Given the description of an element on the screen output the (x, y) to click on. 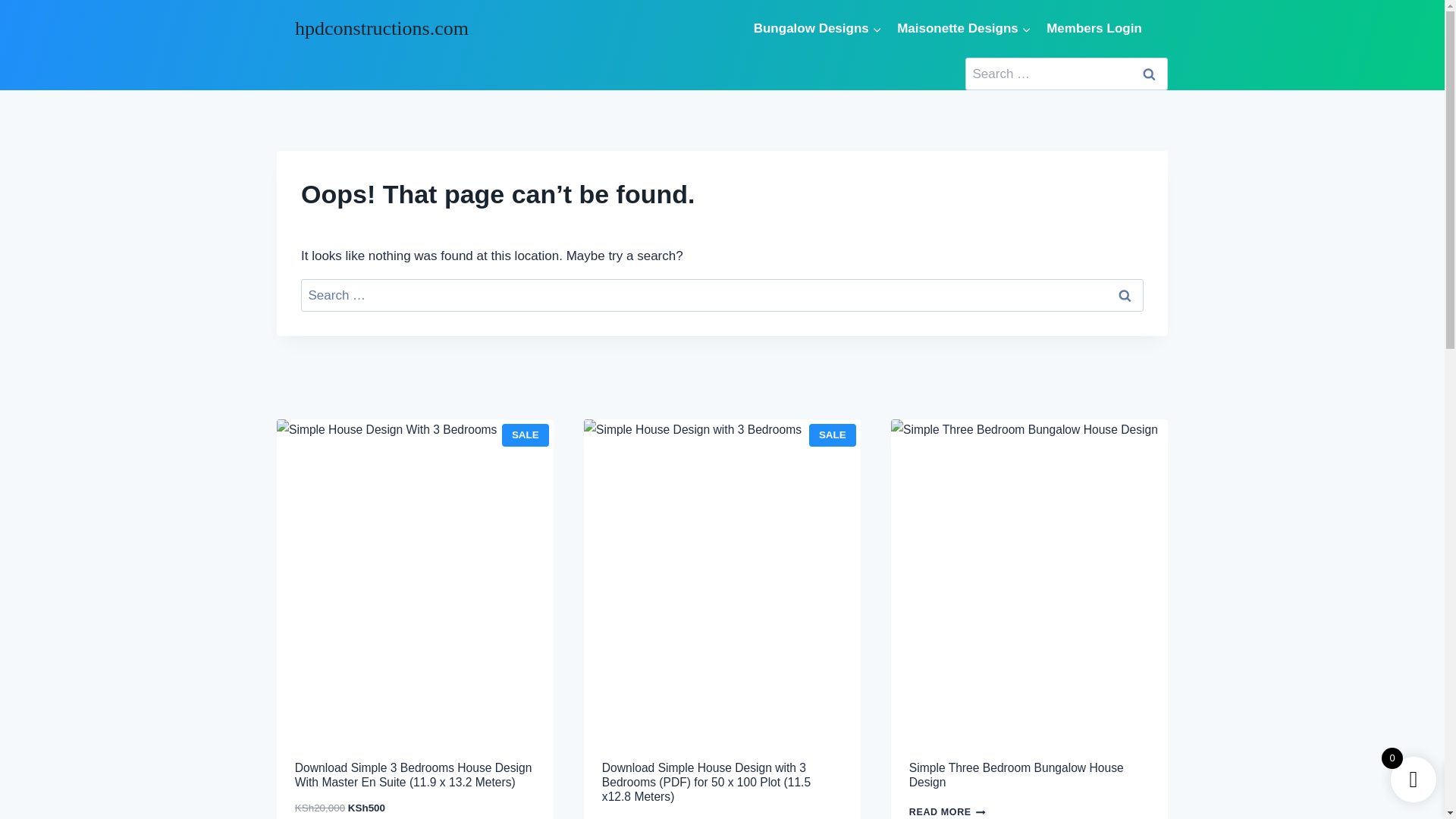
Search (1123, 295)
Members Login (1094, 28)
hpdconstructions.com (381, 28)
Simple Three Bedroom Bungalow House Design (1029, 772)
Maisonette Designs (964, 28)
Search (1123, 295)
READ MORE (951, 809)
Search (1148, 73)
Bungalow Designs (817, 28)
Search (1123, 295)
Search (1148, 73)
Search (1148, 73)
